Given the description of an element on the screen output the (x, y) to click on. 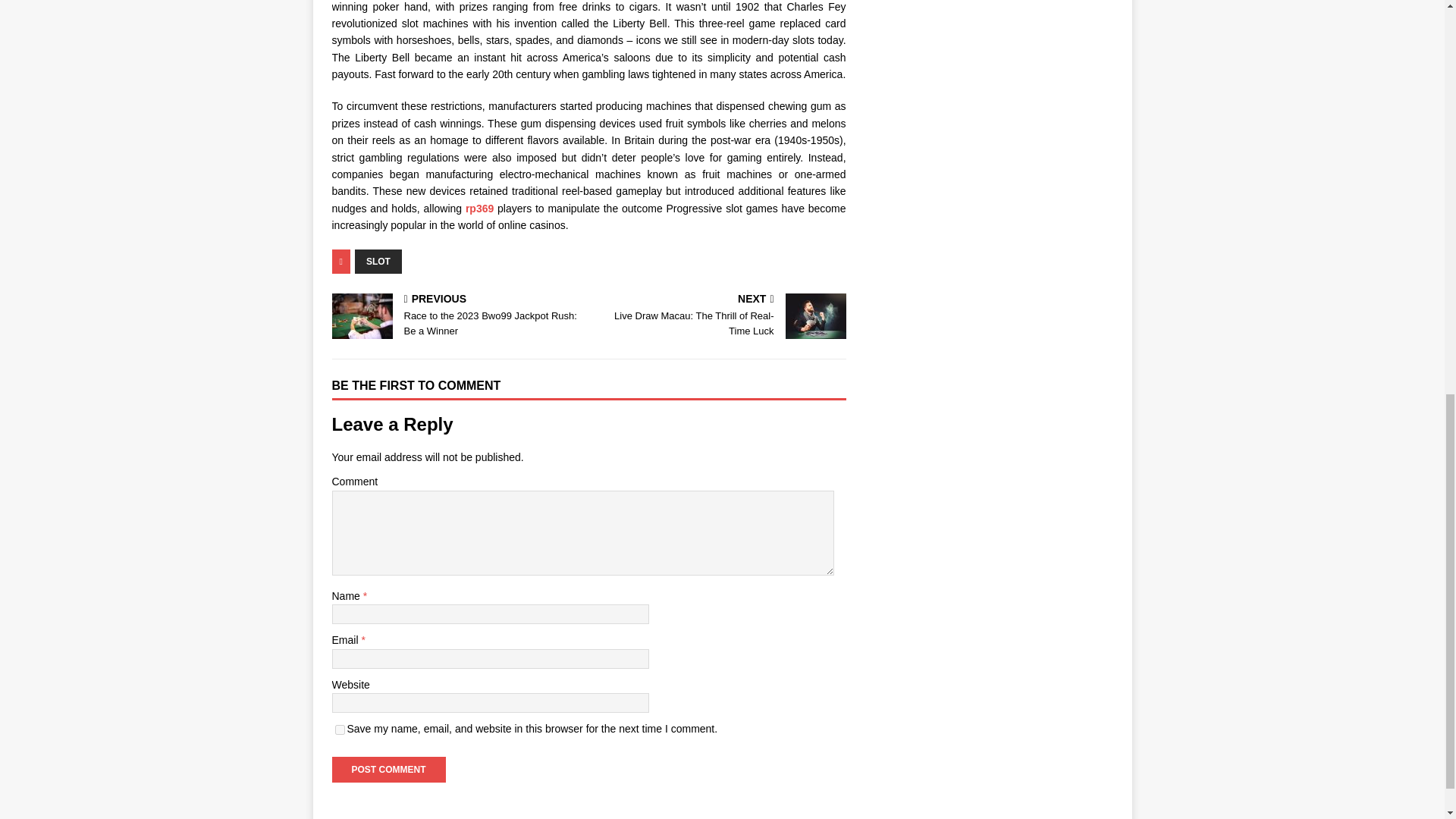
rp369 (457, 316)
SLOT (479, 208)
Post Comment (720, 316)
Post Comment (378, 261)
yes (388, 769)
